Given the description of an element on the screen output the (x, y) to click on. 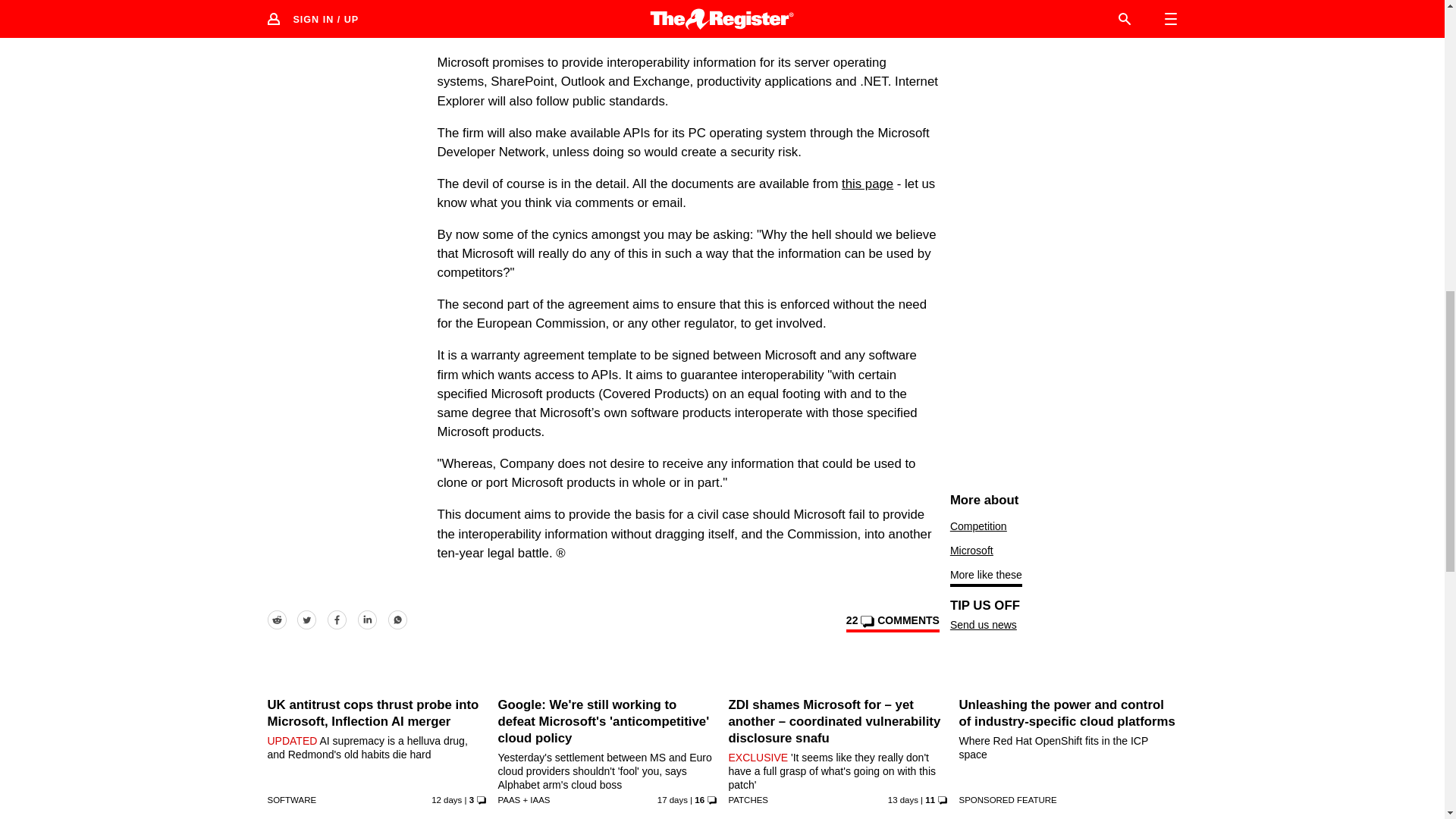
16 Jul 2024 15:0 (445, 799)
Disambiguation: Economic (978, 526)
15 Jul 2024 15:0 (903, 799)
11 Jul 2024 14:15 (672, 799)
View comments on this article (892, 623)
